Given the description of an element on the screen output the (x, y) to click on. 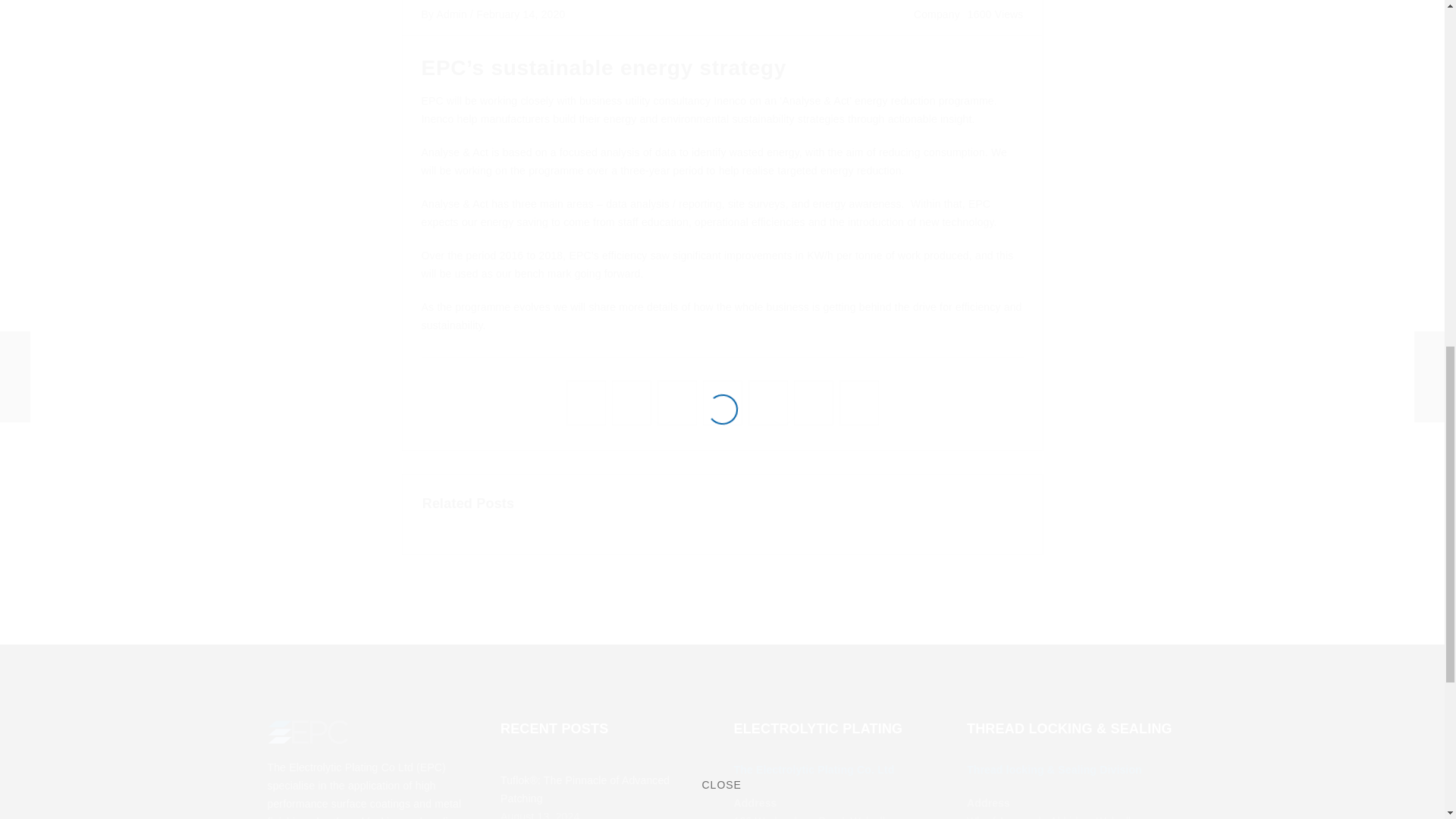
Just another WordPress site (306, 731)
Share on Pinterest (768, 400)
Share on LinkedIn (676, 400)
Share via Email (858, 400)
Company (936, 14)
Share on Vk (722, 400)
Share on Reddit (813, 400)
Admin (451, 14)
Share on Facebook (586, 400)
